Given the description of an element on the screen output the (x, y) to click on. 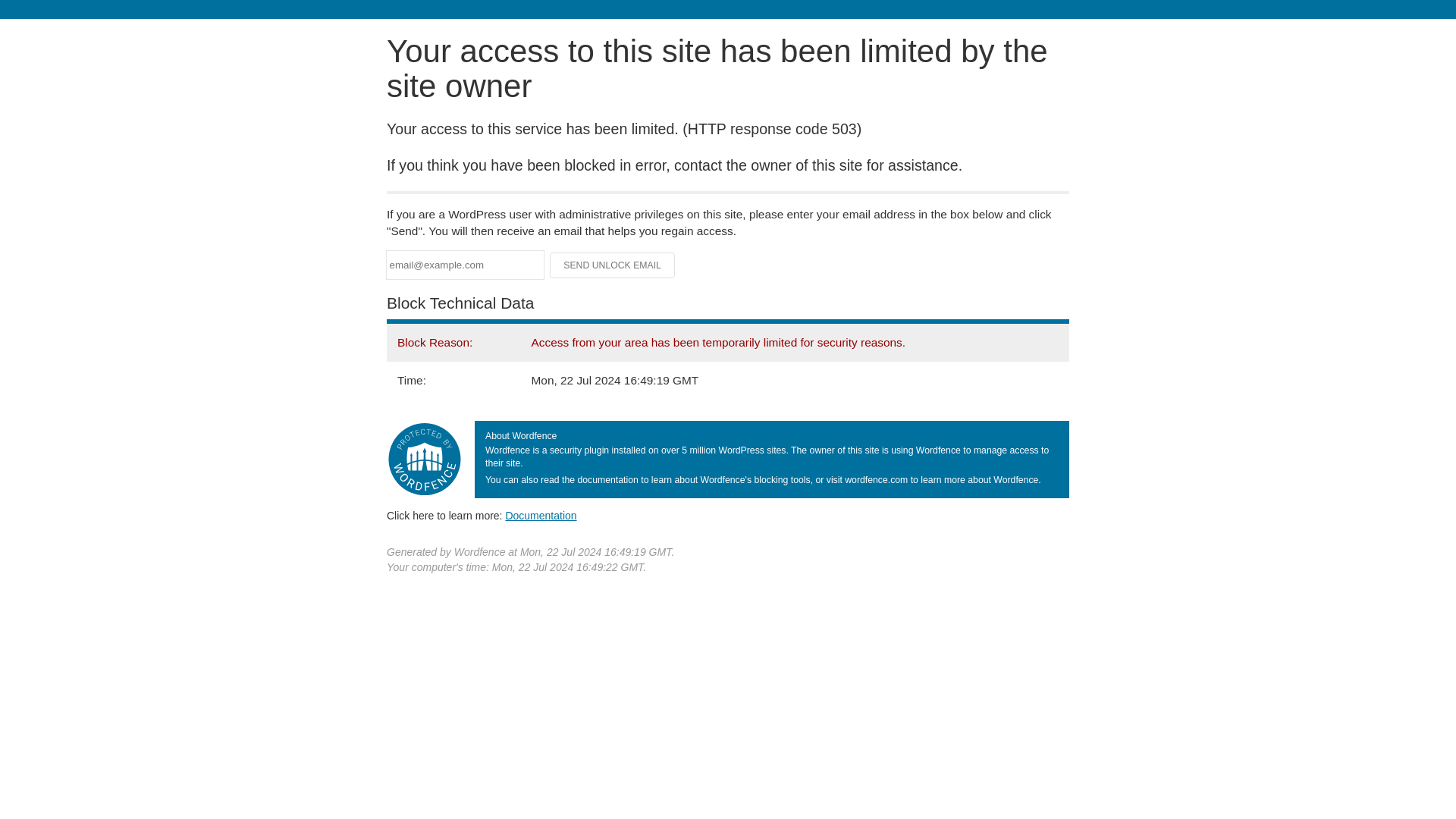
Send Unlock Email (612, 265)
Send Unlock Email (612, 265)
Documentation (540, 515)
